Given the description of an element on the screen output the (x, y) to click on. 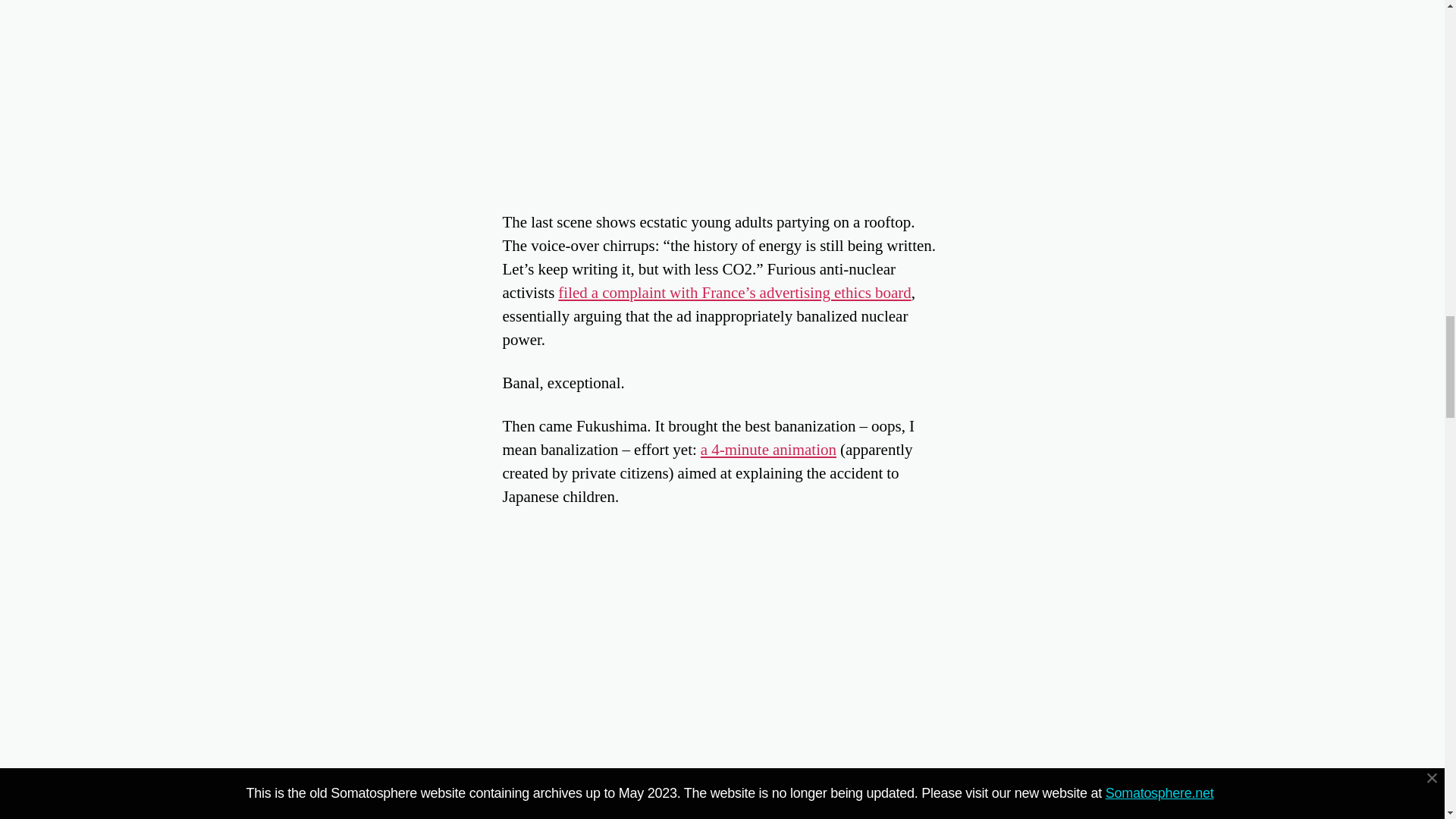
a 4-minute animation (767, 449)
